Given the description of an element on the screen output the (x, y) to click on. 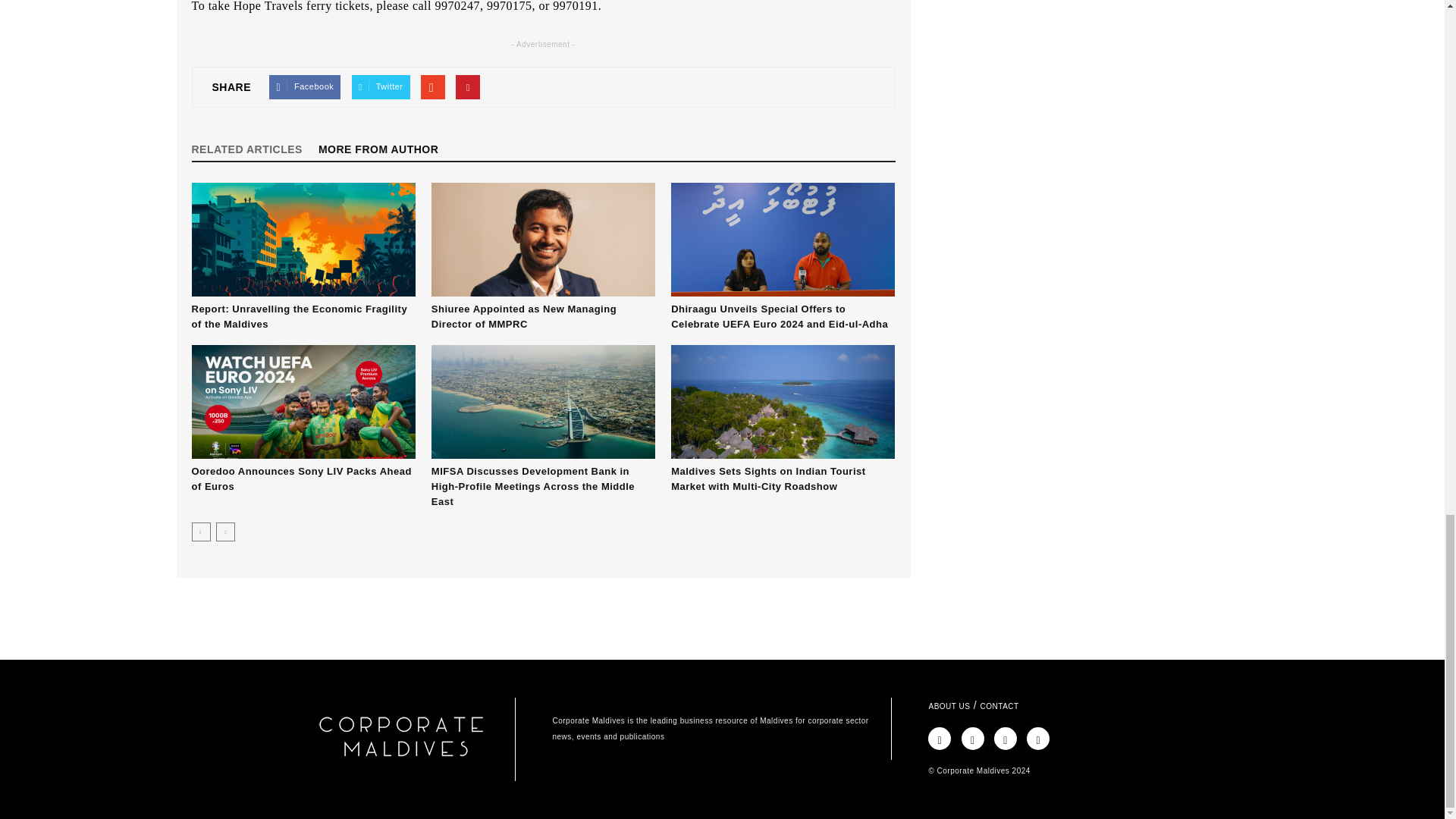
Facebook (304, 87)
Ooredoo Announces Sony LIV Packs Ahead of Euros (302, 401)
Report: Unravelling the Economic Fragility of the Maldives (302, 239)
Twitter (381, 87)
Shiuree Appointed as New Managing Director of MMPRC (542, 239)
Ooredoo Announces Sony LIV Packs Ahead of Euros (300, 479)
Shiuree Appointed as New Managing Director of MMPRC (522, 316)
Report: Unravelling the Economic Fragility of the Maldives (298, 316)
